Given the description of an element on the screen output the (x, y) to click on. 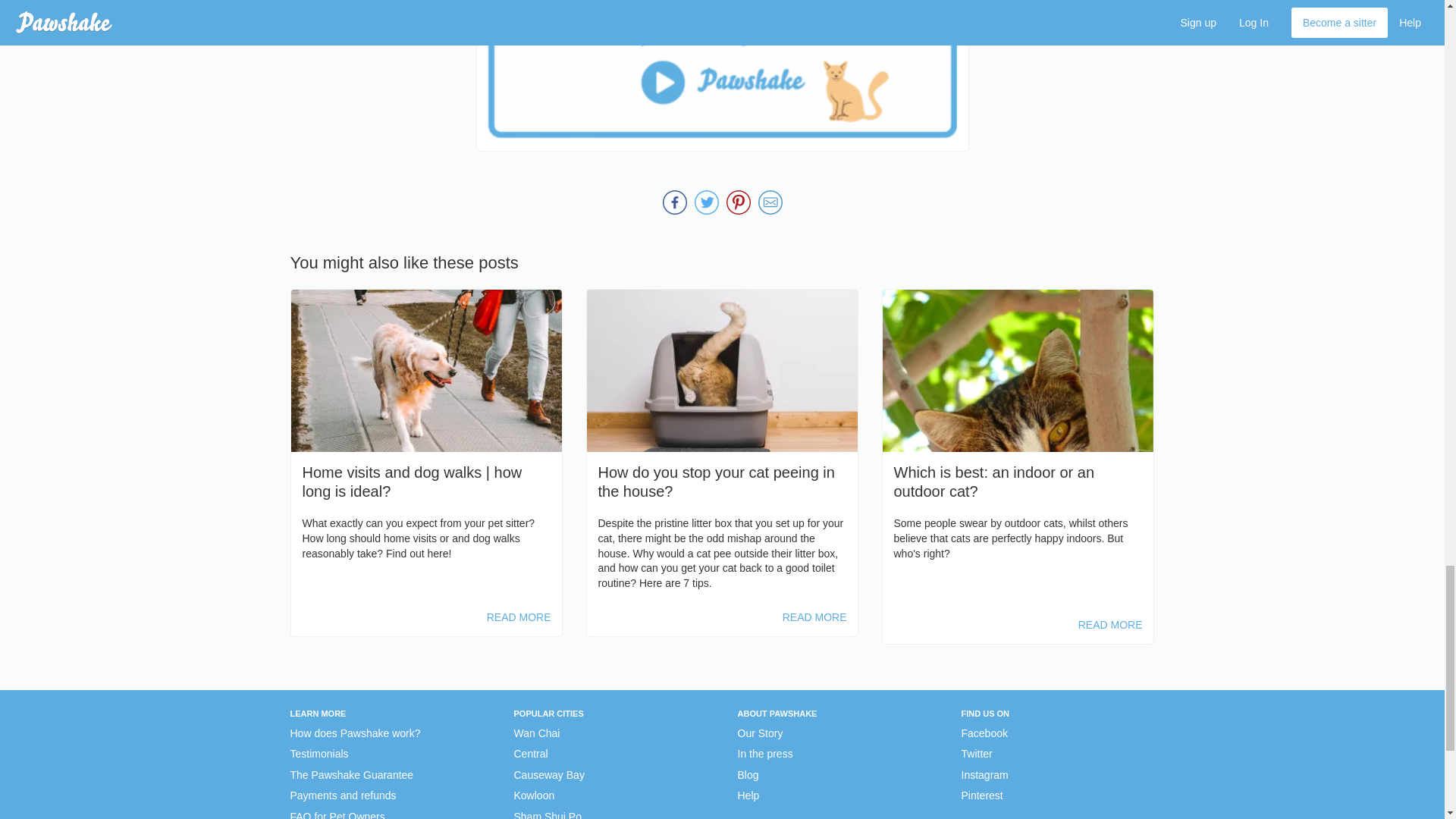
Book a pet sitter (721, 70)
FAQ for Pet Owners (336, 814)
How does Pawshake work? (354, 734)
Central (530, 754)
Testimonials (318, 754)
The Pawshake Guarantee (351, 775)
Wan Chai (536, 734)
Causeway Bay (549, 775)
Payments and refunds (342, 795)
